Given the description of an element on the screen output the (x, y) to click on. 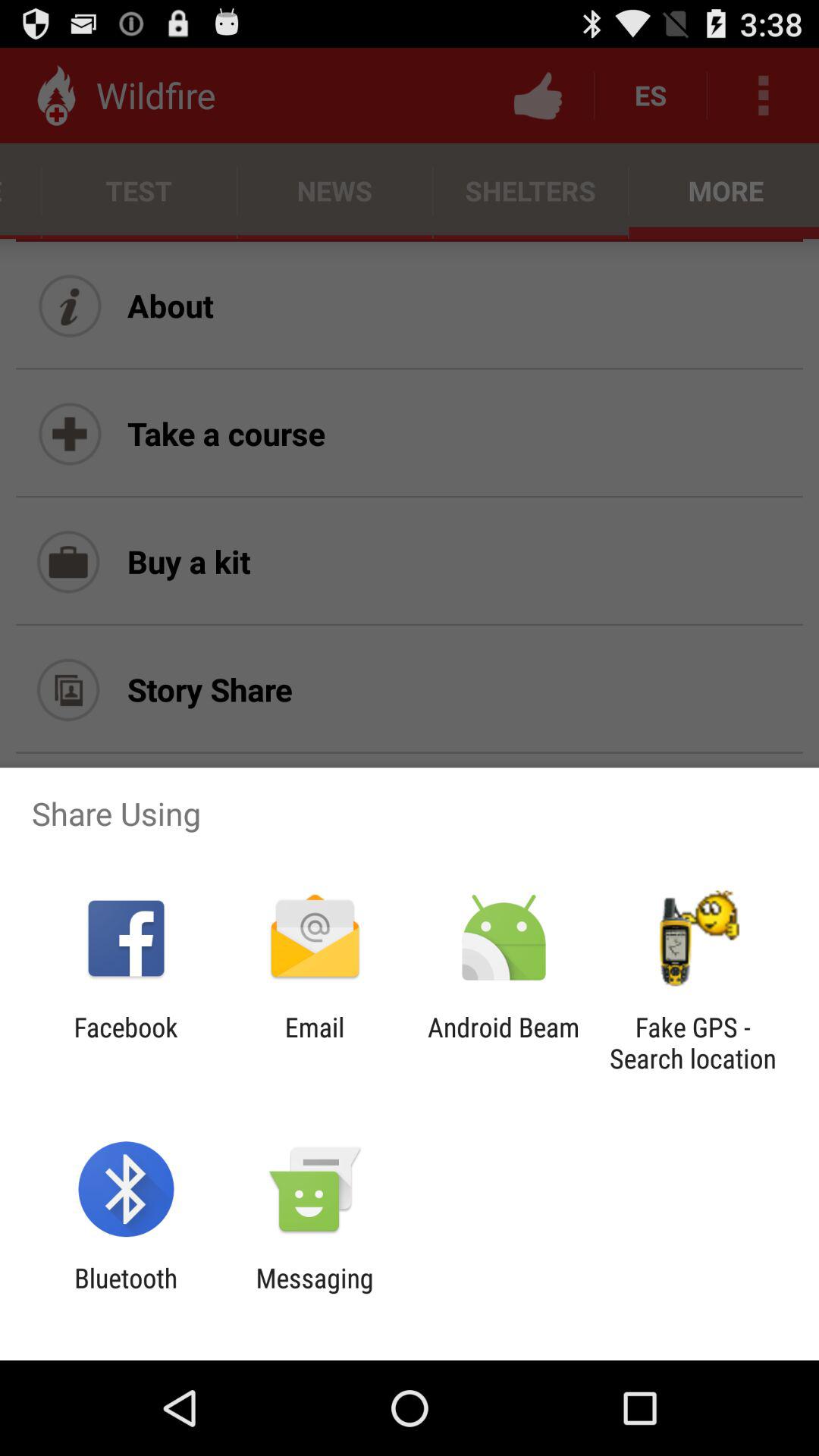
tap app at the bottom right corner (692, 1042)
